Given the description of an element on the screen output the (x, y) to click on. 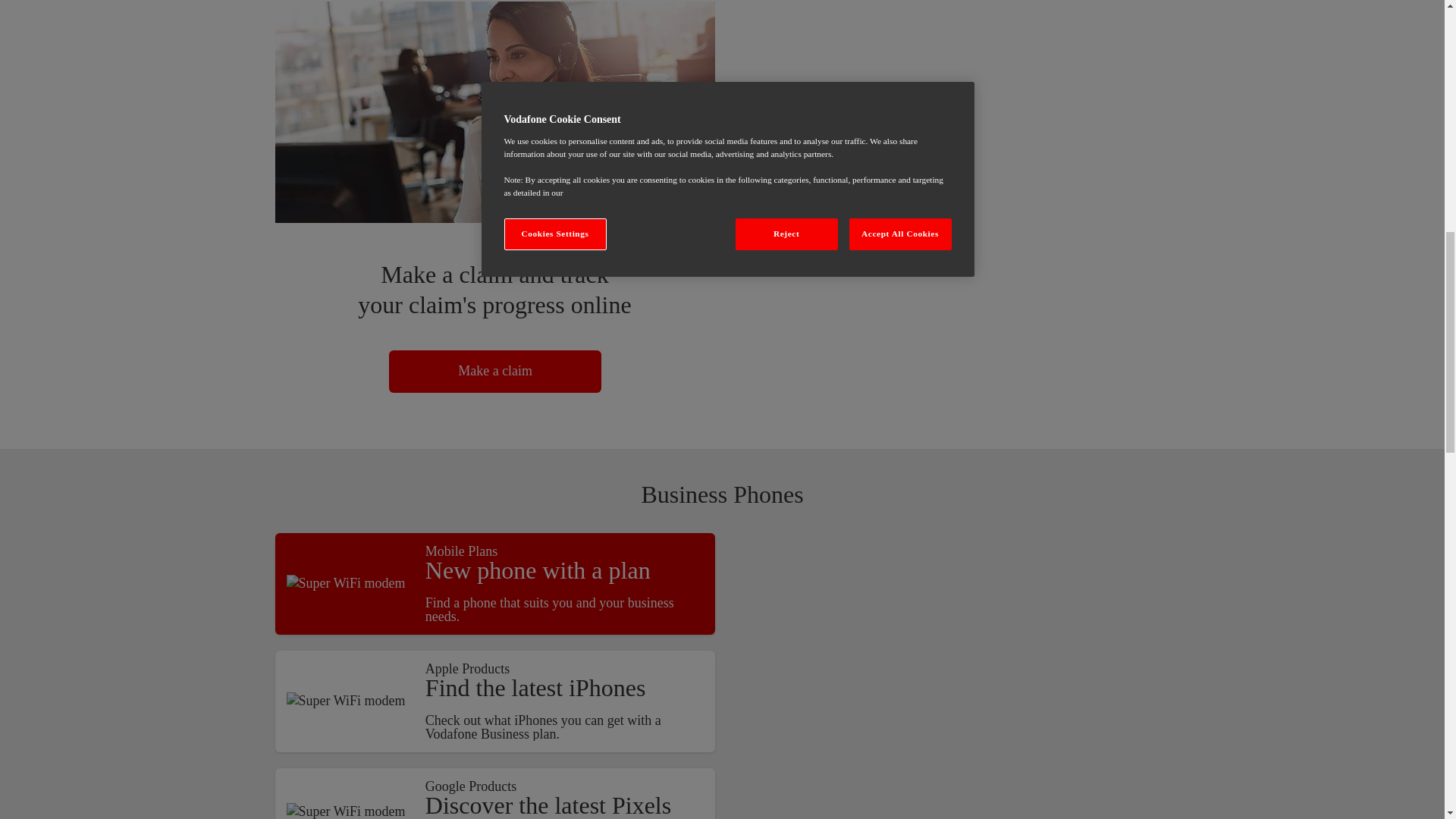
iPhones (346, 701)
Business Phones (346, 583)
Google Pixel (346, 811)
Make a claim (494, 111)
